Given the description of an element on the screen output the (x, y) to click on. 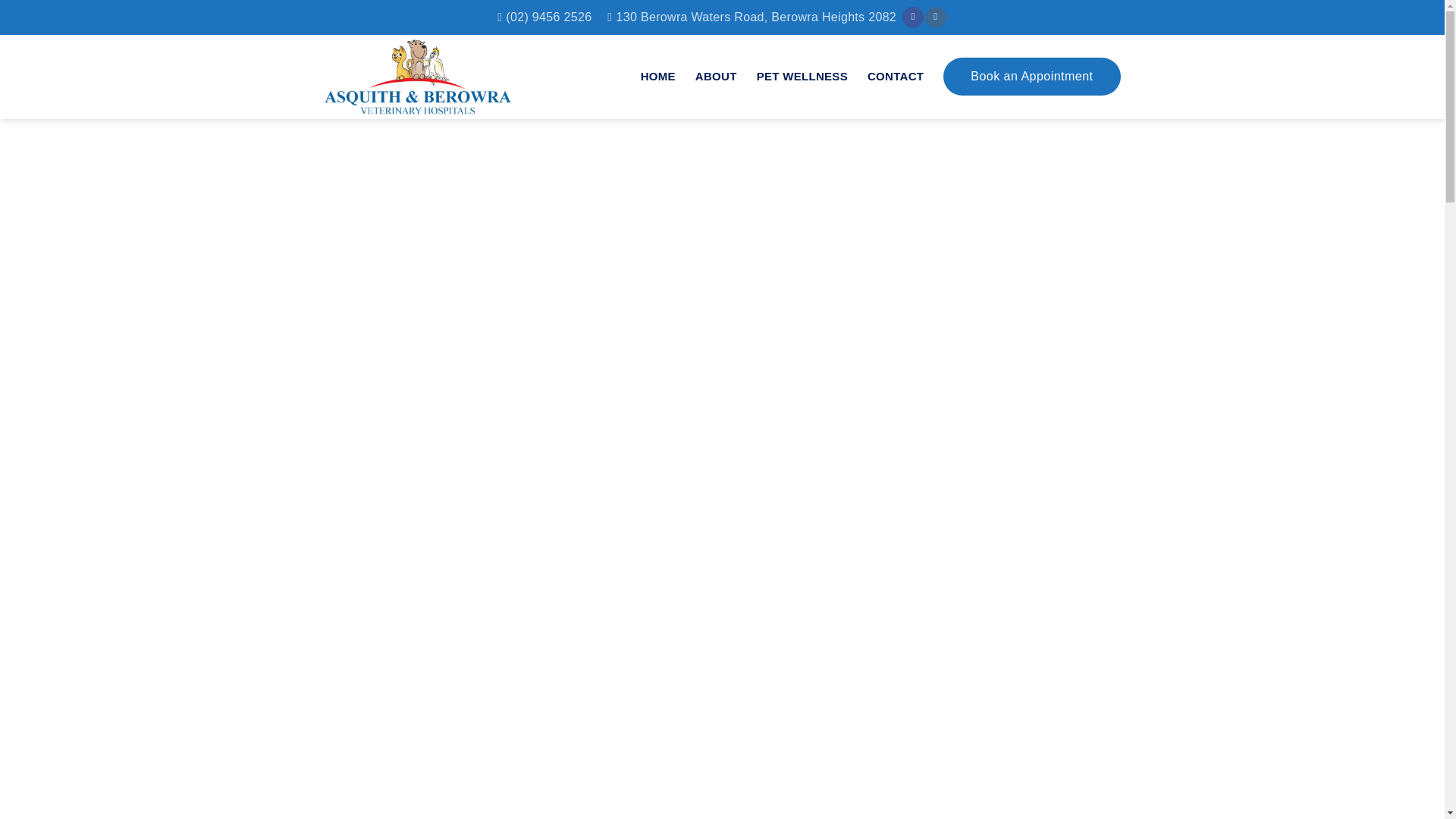
130 Berowra Waters Road, Berowra Heights 2082 (751, 17)
Berowra Veterinary Clinic (437, 76)
PET WELLNESS (802, 76)
130 Berowra Waters Road, Berowra Heights 2082 (751, 17)
Book an Appointment (1031, 76)
ABOUT (715, 76)
CONTACT (895, 76)
Follow on Instagram (934, 16)
HOME (657, 76)
Follow on Facebook (912, 16)
